Given the description of an element on the screen output the (x, y) to click on. 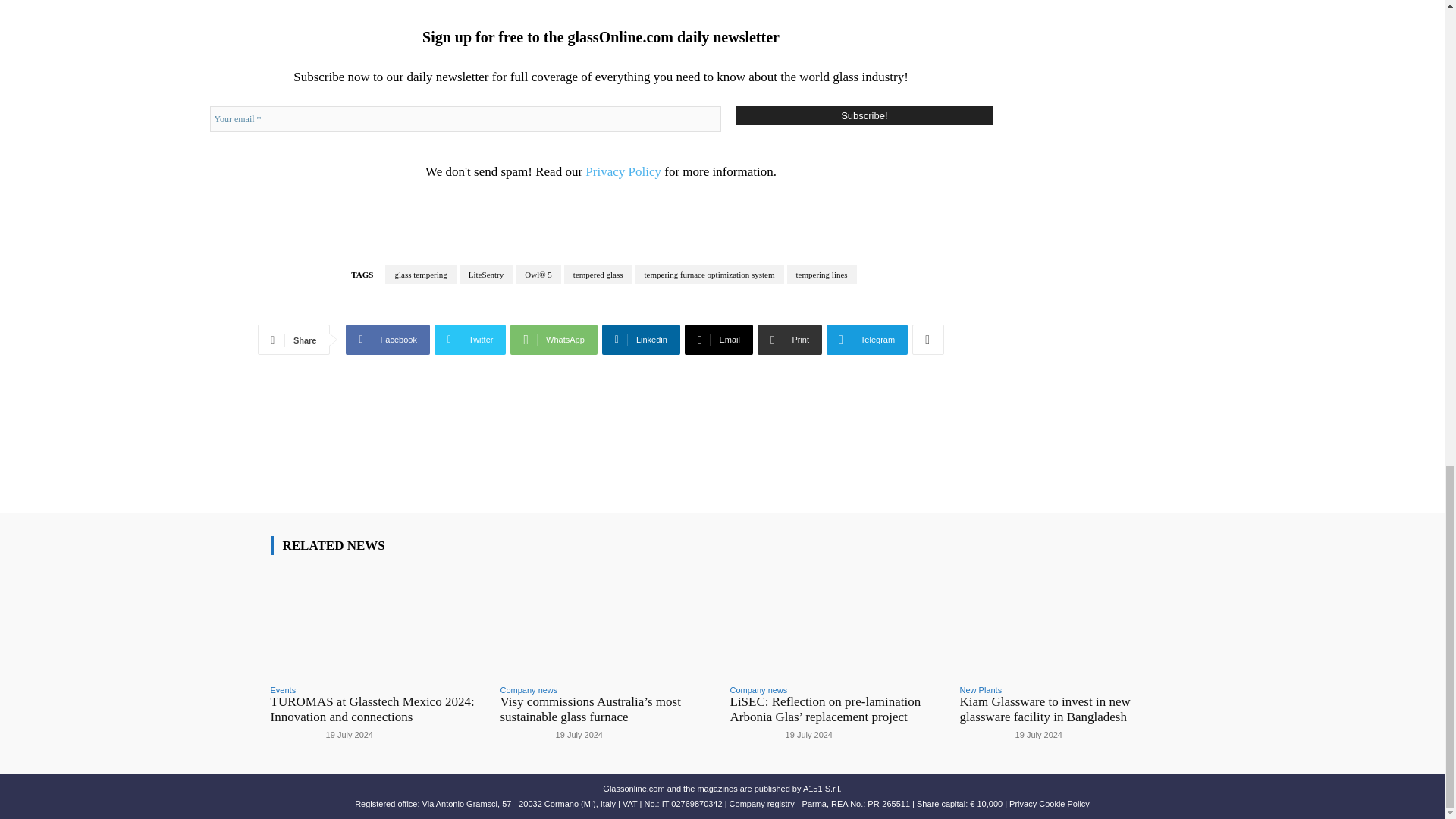
Subscribe! (863, 115)
WhatsApp (553, 339)
Your email (464, 118)
Linkedin (640, 339)
Facebook (387, 339)
Twitter (469, 339)
Email (718, 339)
Print (789, 339)
